Given the description of an element on the screen output the (x, y) to click on. 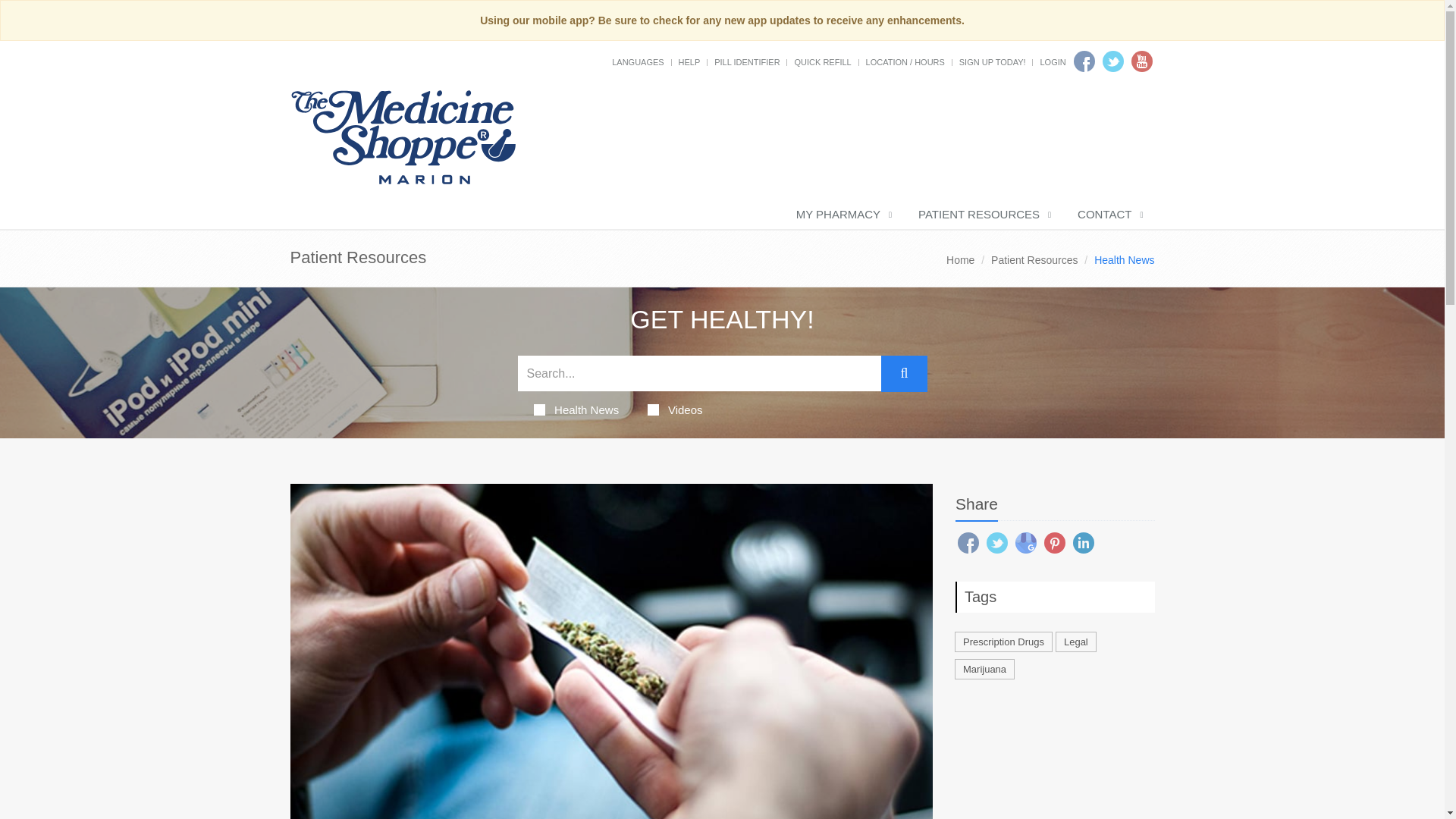
QUICK REFILL (821, 61)
Patient Resources (1034, 259)
PILL IDENTIFIER (746, 61)
HELP (689, 61)
CONTACT (1108, 214)
PATIENT RESOURCES (982, 214)
LOGIN (1052, 61)
MY PHARMACY (841, 214)
SIGN UP TODAY! (992, 61)
Home (960, 259)
